Given the description of an element on the screen output the (x, y) to click on. 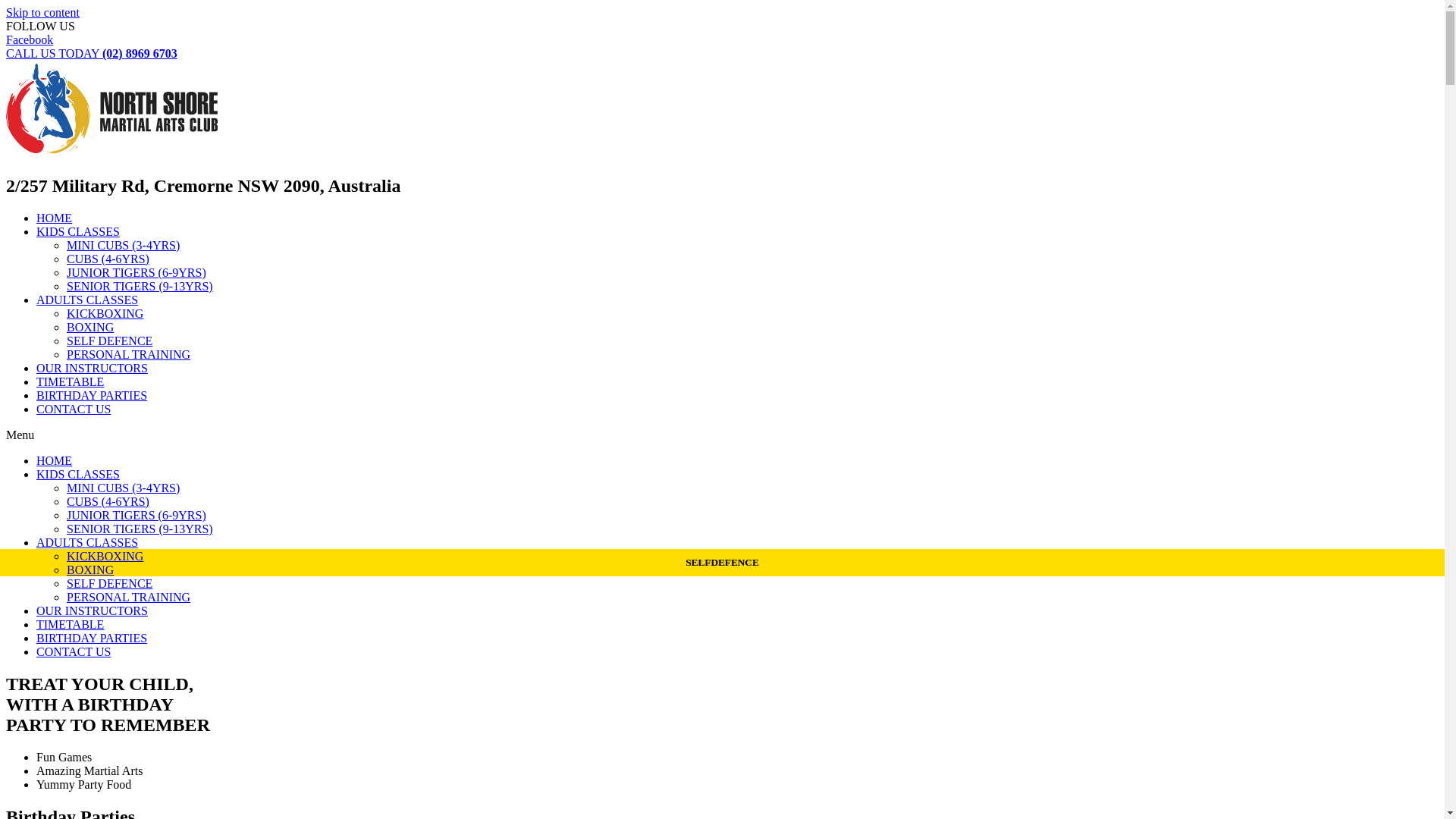
CONTACT US Element type: text (73, 651)
PERSONAL TRAINING Element type: text (128, 596)
TIMETABLE Element type: text (69, 624)
BOXING Element type: text (89, 326)
CALL US TODAY (02) 8969 6703 Element type: text (91, 53)
KIDS CLASSES Element type: text (77, 231)
CUBS (4-6YRS) Element type: text (107, 501)
SELF DEFENCE Element type: text (109, 583)
TIMETABLE Element type: text (69, 381)
KICKBOXING Element type: text (104, 555)
BIRTHDAY PARTIES Element type: text (91, 637)
MINI CUBS (3-4YRS) Element type: text (122, 244)
SENIOR TIGERS (9-13YRS) Element type: text (139, 285)
MINI CUBS (3-4YRS) Element type: text (122, 487)
PERSONAL TRAINING Element type: text (128, 354)
ADULTS CLASSES Element type: text (87, 542)
ADULTS CLASSES Element type: text (87, 299)
BIRTHDAY PARTIES Element type: text (91, 395)
Facebook Element type: text (29, 39)
Skip to content Element type: text (42, 12)
CUBS (4-6YRS) Element type: text (107, 258)
HOME Element type: text (54, 217)
JUNIOR TIGERS (6-9YRS) Element type: text (136, 514)
OUR INSTRUCTORS Element type: text (91, 367)
BOXING Element type: text (89, 569)
HOME Element type: text (54, 460)
OUR INSTRUCTORS Element type: text (91, 610)
SENIOR TIGERS (9-13YRS) Element type: text (139, 528)
JUNIOR TIGERS (6-9YRS) Element type: text (136, 272)
KICKBOXING Element type: text (104, 313)
KIDS CLASSES Element type: text (77, 473)
SELF DEFENCE Element type: text (109, 340)
CONTACT US Element type: text (73, 408)
